Given the description of an element on the screen output the (x, y) to click on. 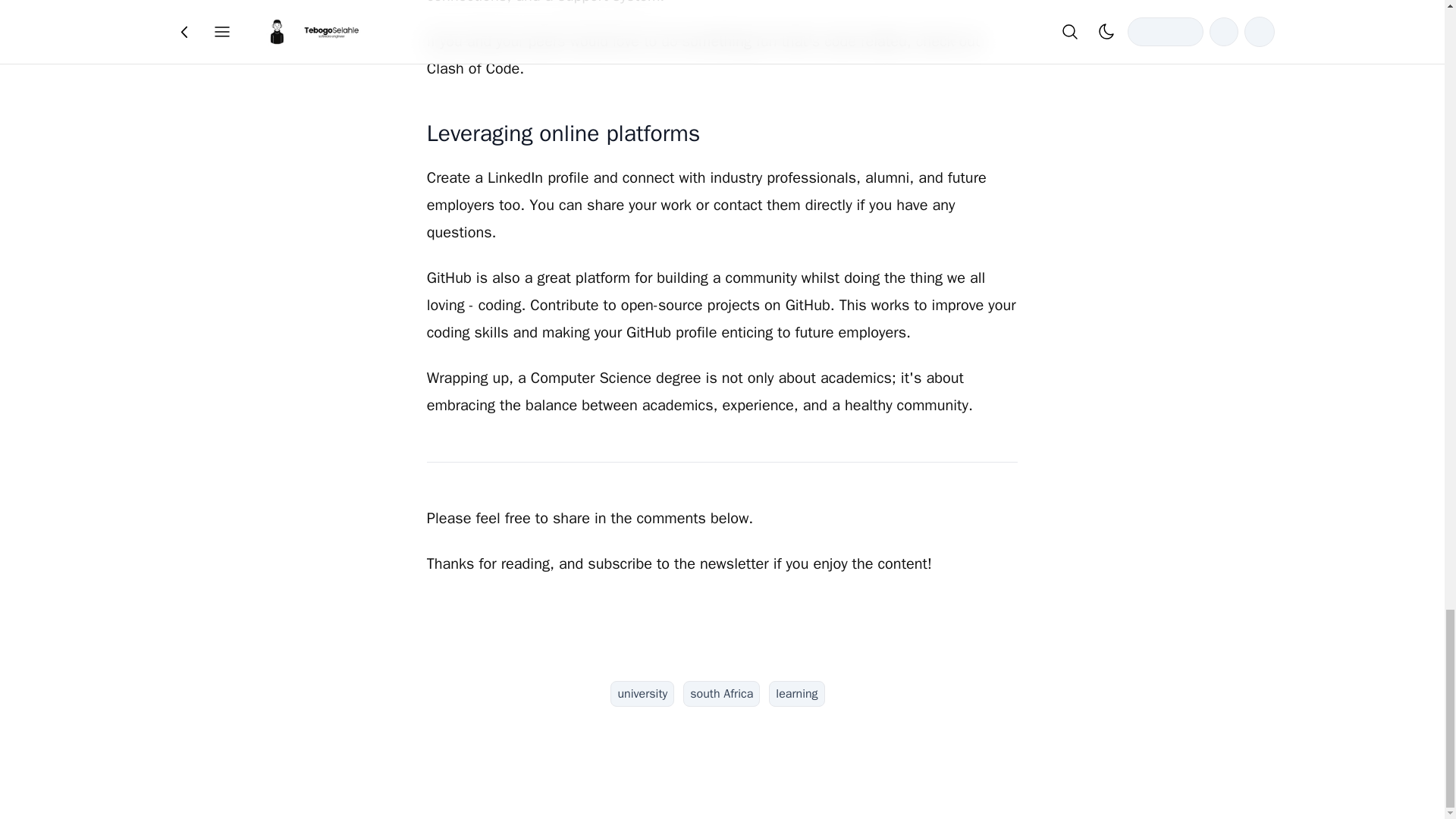
south Africa (721, 693)
learning (796, 693)
university (642, 693)
